Given the description of an element on the screen output the (x, y) to click on. 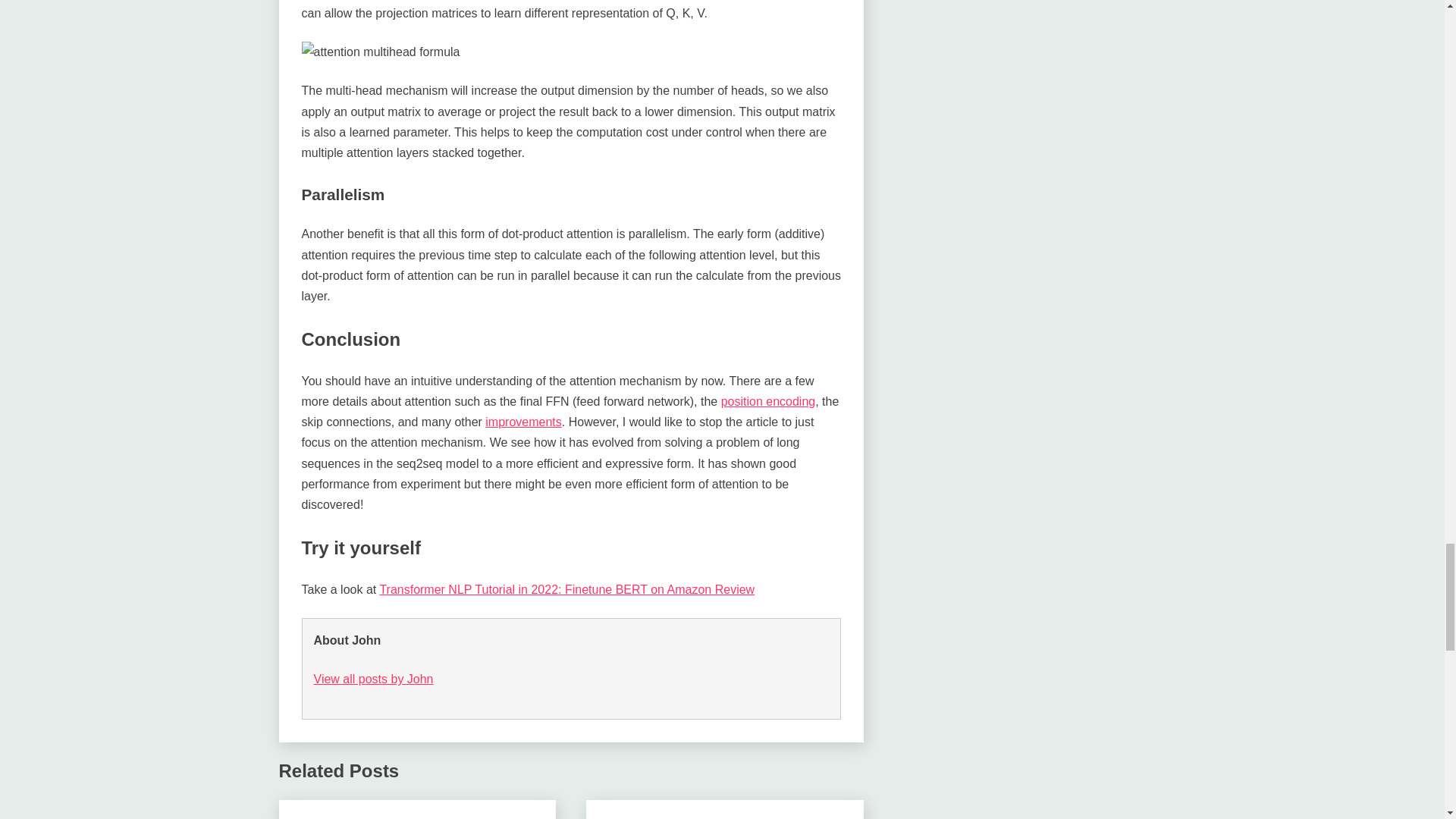
improvements (522, 421)
position encoding (767, 400)
View all posts by John (373, 678)
